Given the description of an element on the screen output the (x, y) to click on. 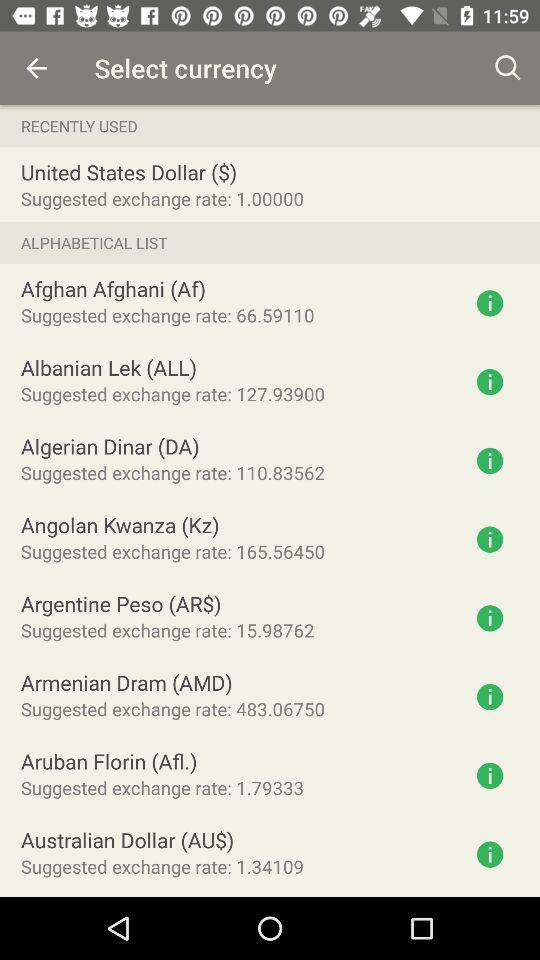
more information (490, 303)
